Given the description of an element on the screen output the (x, y) to click on. 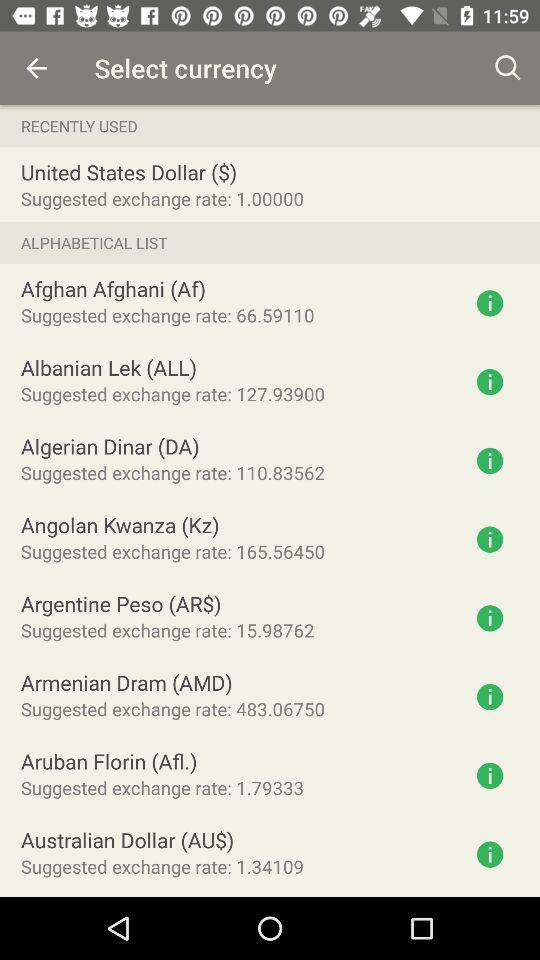
more information (490, 303)
